Given the description of an element on the screen output the (x, y) to click on. 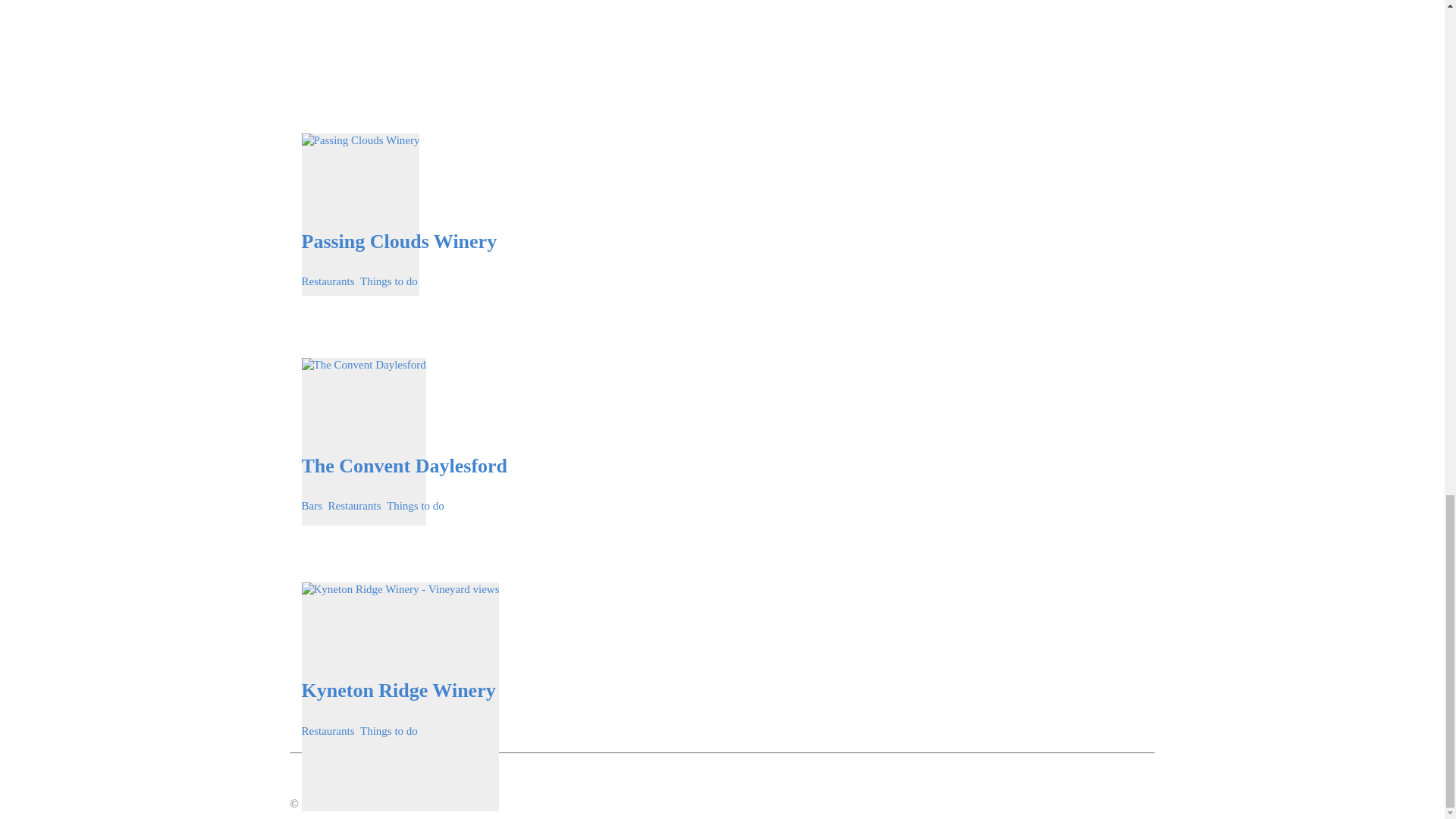
Things to do (415, 506)
Restaurants (328, 281)
Restaurants (328, 731)
The Convent Daylesford (404, 466)
Kyneton Ridge Winery (398, 691)
Things to do (388, 731)
Passing Clouds Winery (399, 242)
Things to do (388, 281)
Restaurants (353, 506)
Bars (312, 506)
